Given the description of an element on the screen output the (x, y) to click on. 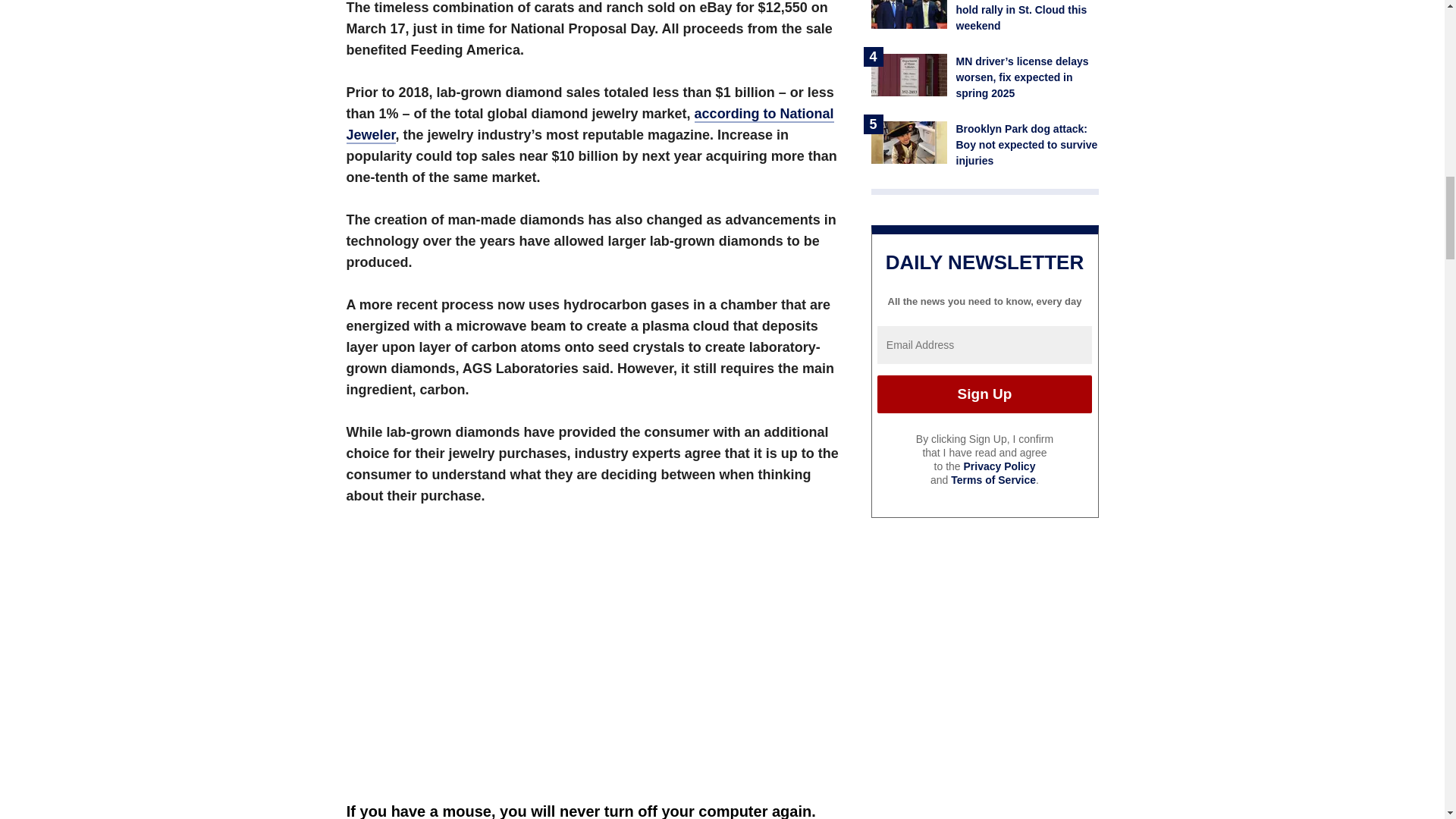
Sign Up (984, 394)
